Given the description of an element on the screen output the (x, y) to click on. 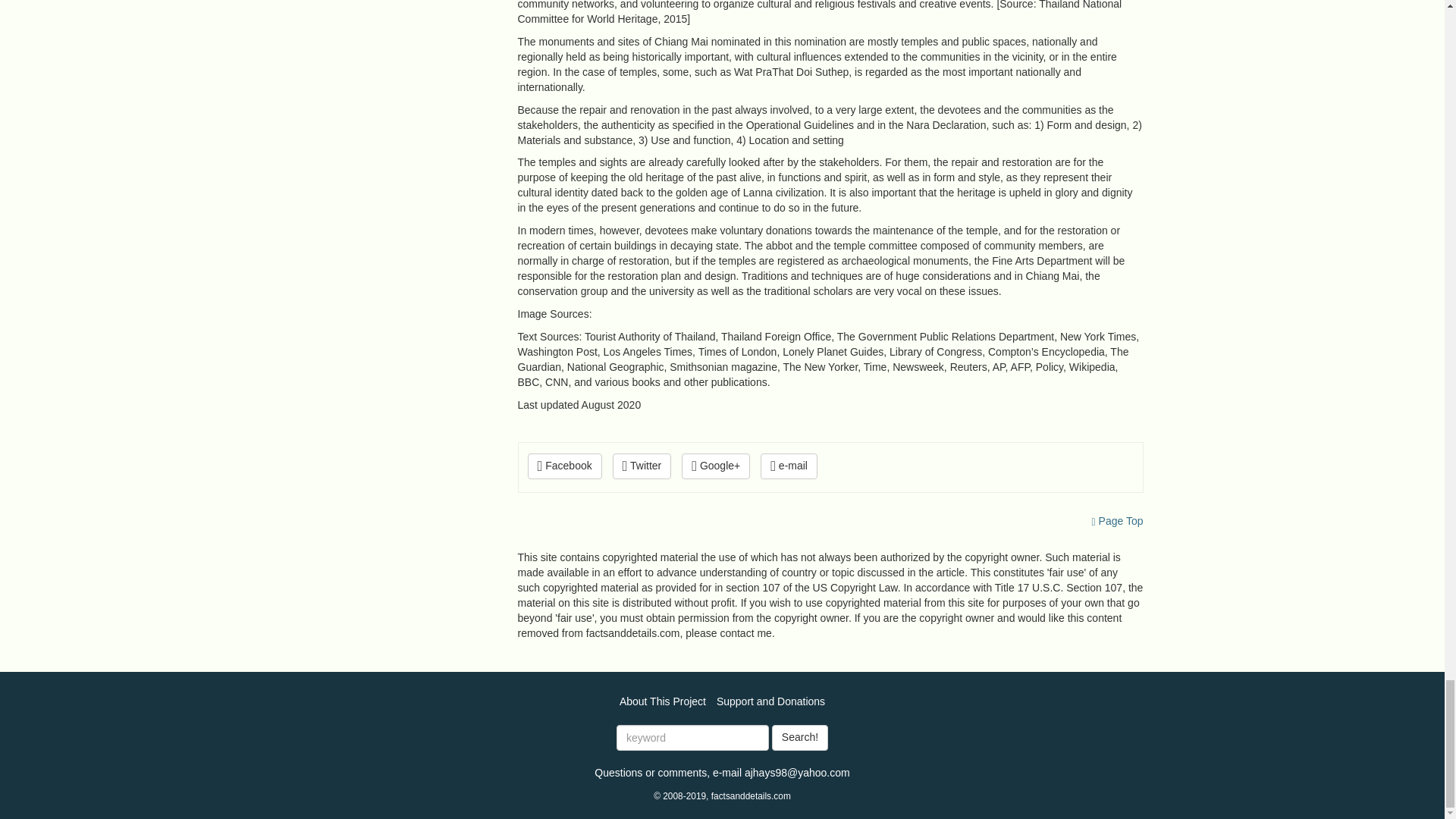
Search! (799, 737)
About This Project (663, 701)
 Twitter (641, 466)
Support and Donations (770, 701)
 Page Top (1117, 521)
 Facebook (564, 466)
Search! (799, 737)
 e-mail (788, 466)
e-mail a link to this page (788, 466)
